Given the description of an element on the screen output the (x, y) to click on. 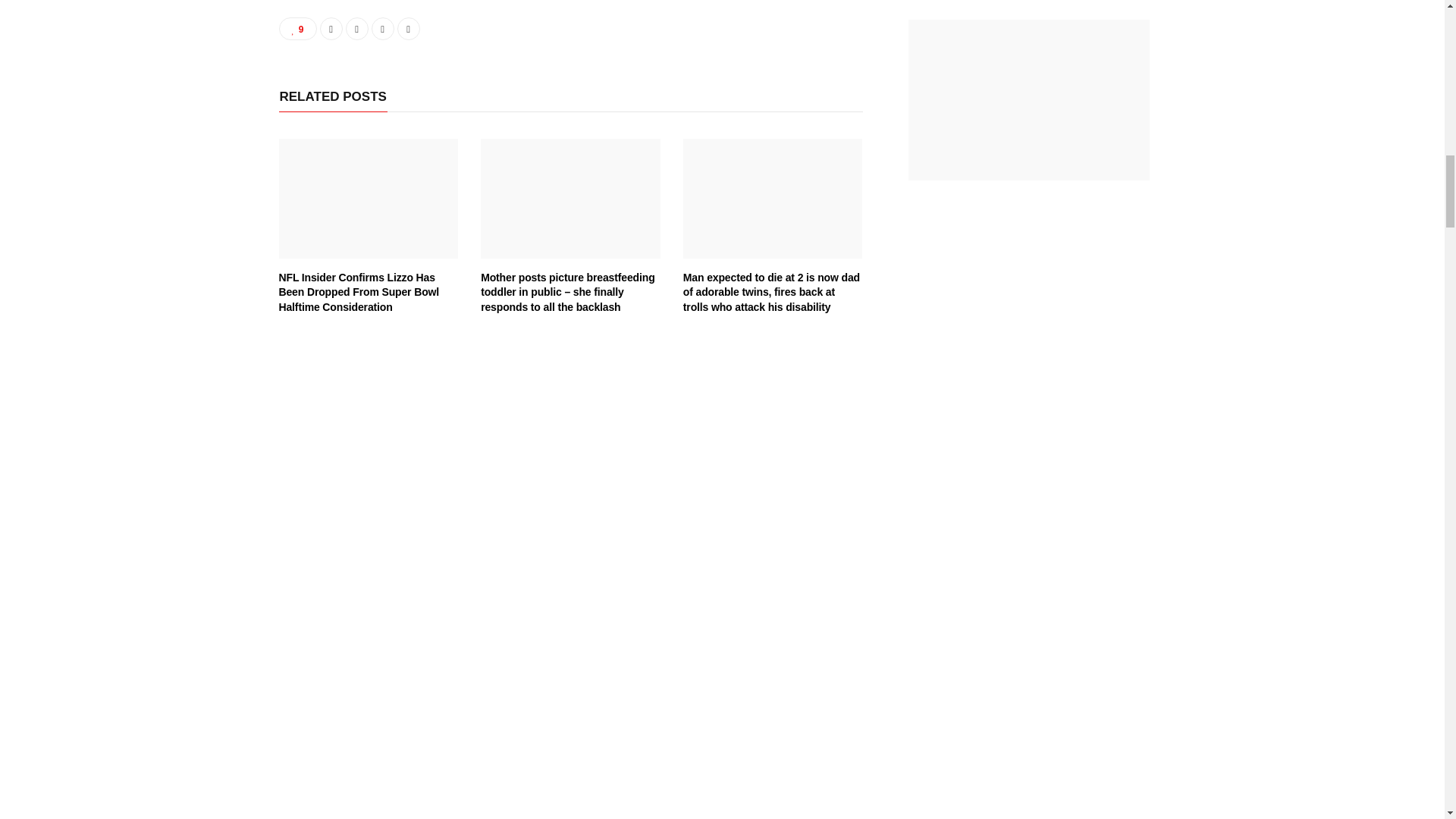
9 (298, 28)
